Given the description of an element on the screen output the (x, y) to click on. 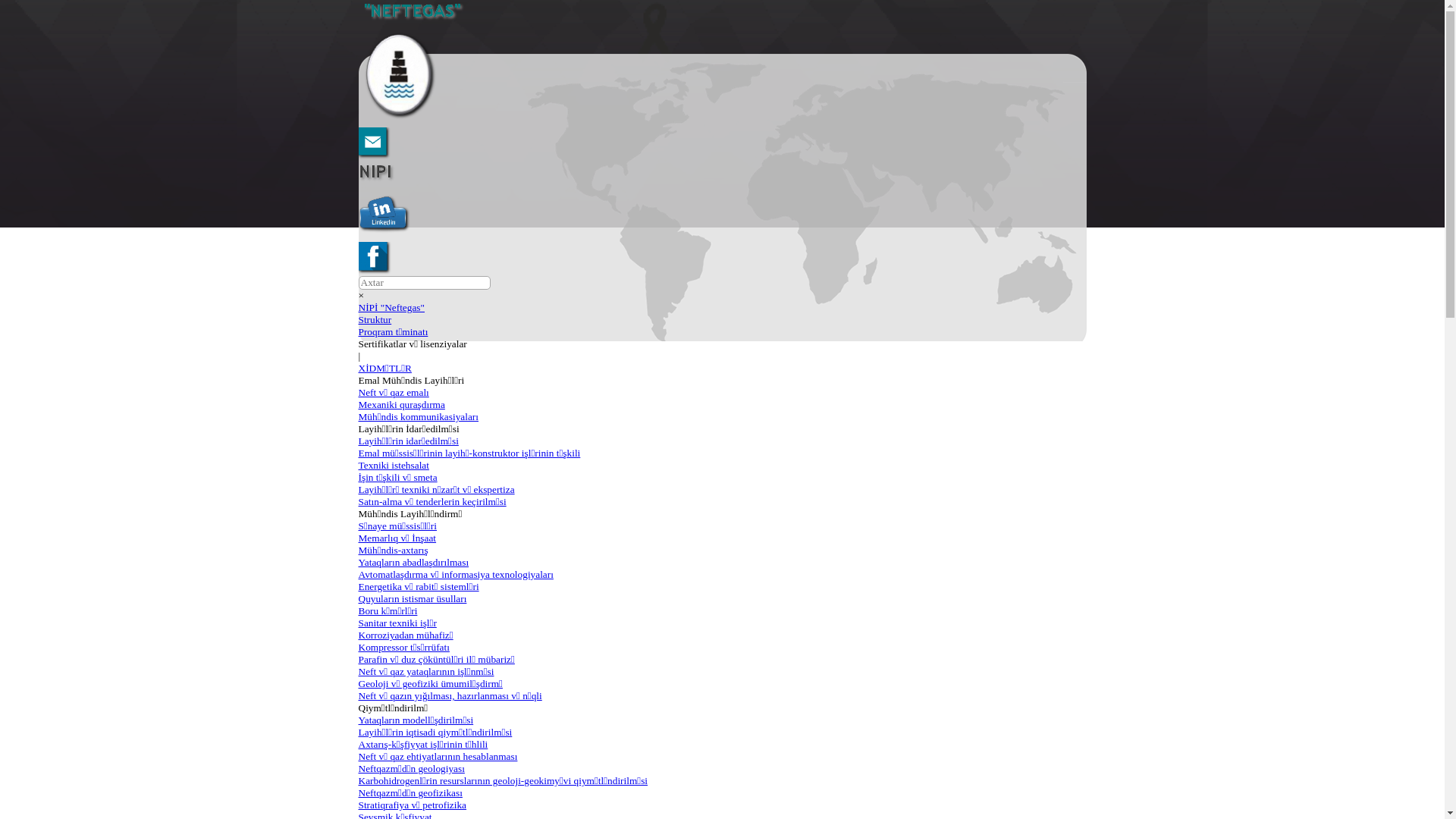
Texniki istehsalat Element type: text (392, 464)
Struktur Element type: text (374, 319)
